Given the description of an element on the screen output the (x, y) to click on. 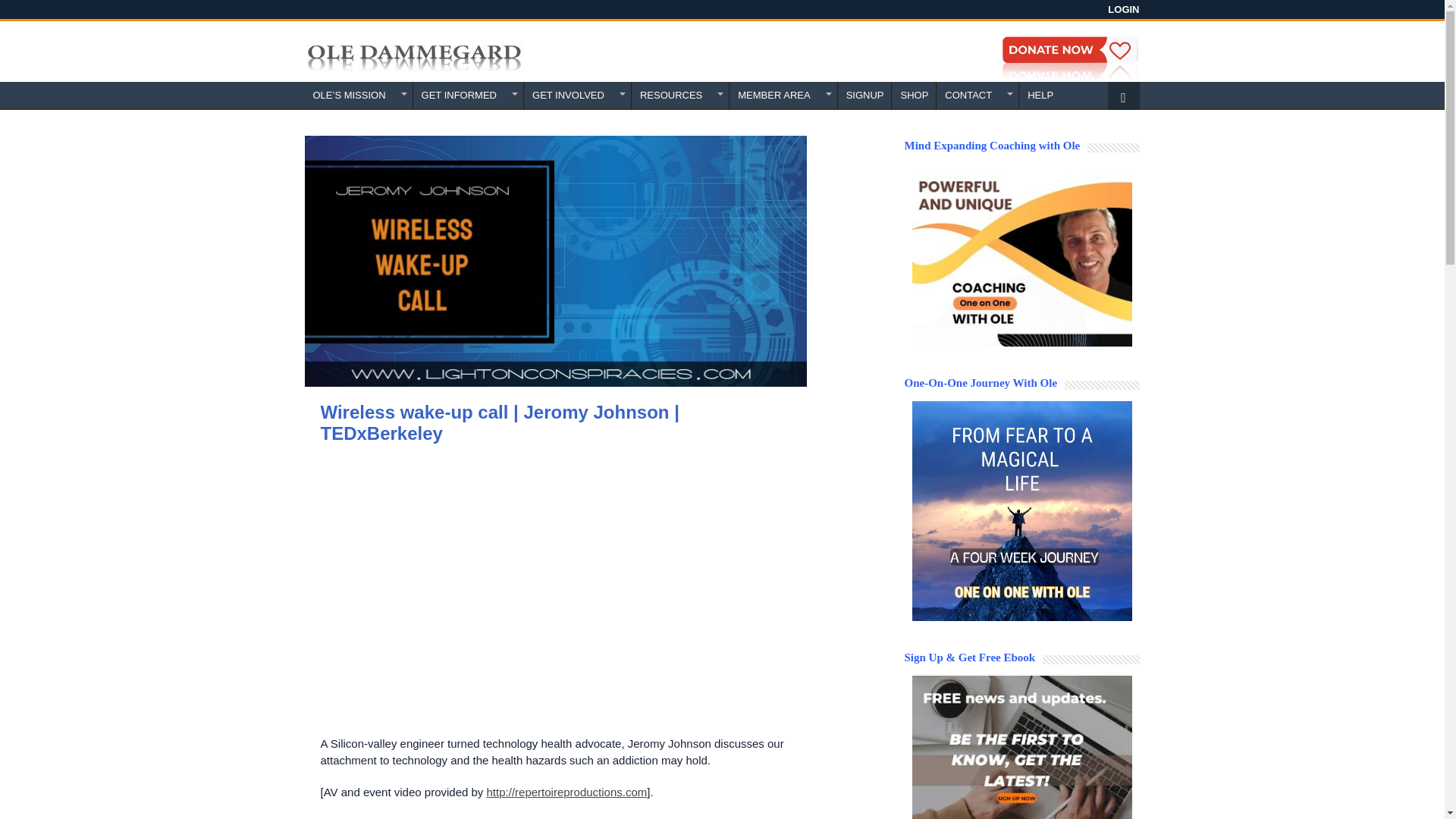
View your shopping cart (1122, 95)
GET INFORMED (467, 95)
LOGIN (1123, 9)
